Given the description of an element on the screen output the (x, y) to click on. 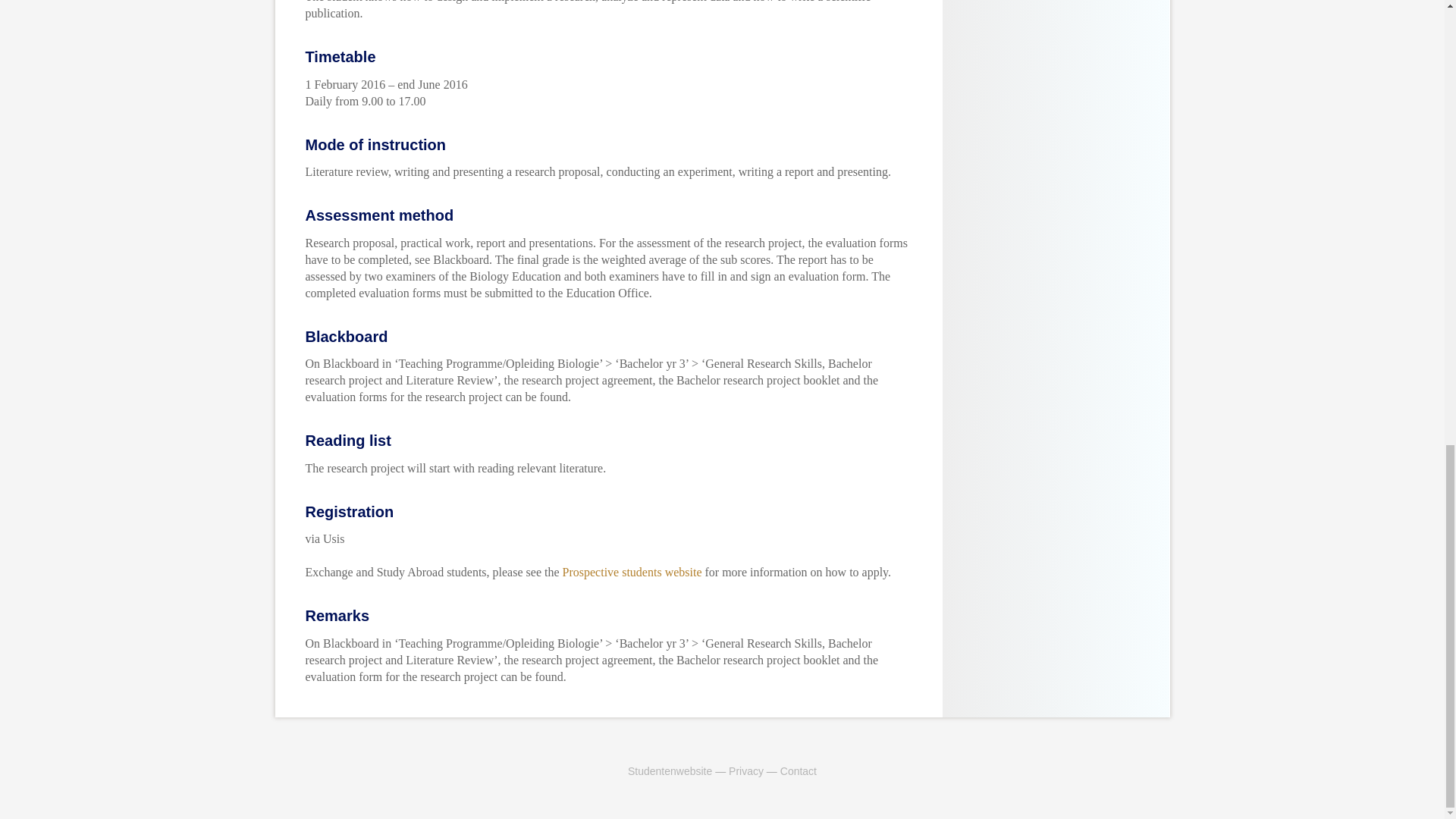
Privacy (745, 770)
Prospective students website (631, 571)
Contact (798, 770)
Studentenwebsite (669, 770)
